Given the description of an element on the screen output the (x, y) to click on. 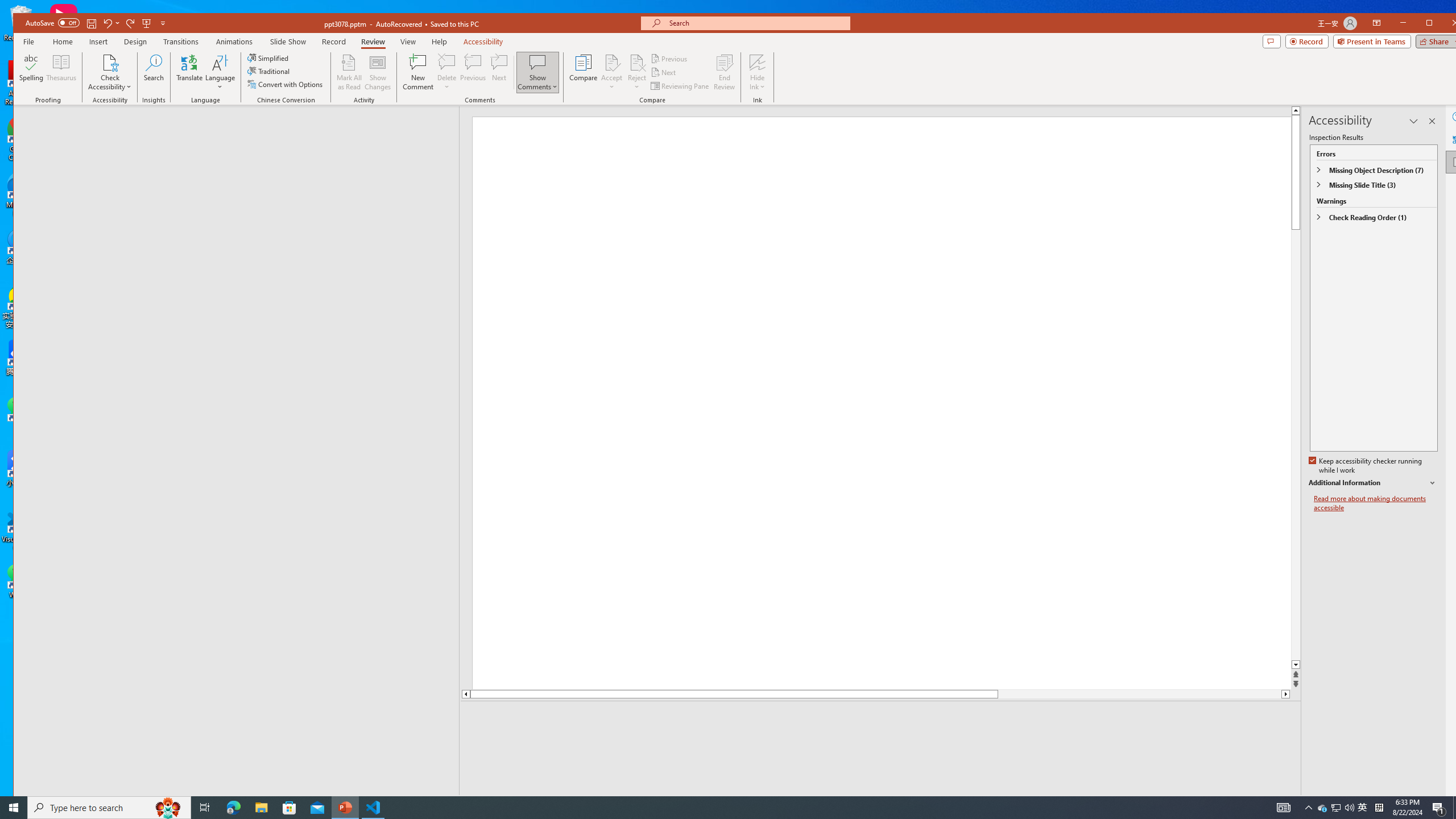
Quick Access Toolbar (96, 22)
Line up (465, 693)
Accept (611, 72)
Hide Ink (757, 61)
Compare (582, 72)
Show Changes (378, 72)
Search (153, 72)
Microsoft search (755, 23)
Convert with Options... (286, 83)
Menu On (1235, 802)
Next (664, 72)
Rectangle (229, 450)
Home (62, 41)
New Comment (418, 72)
